Given the description of an element on the screen output the (x, y) to click on. 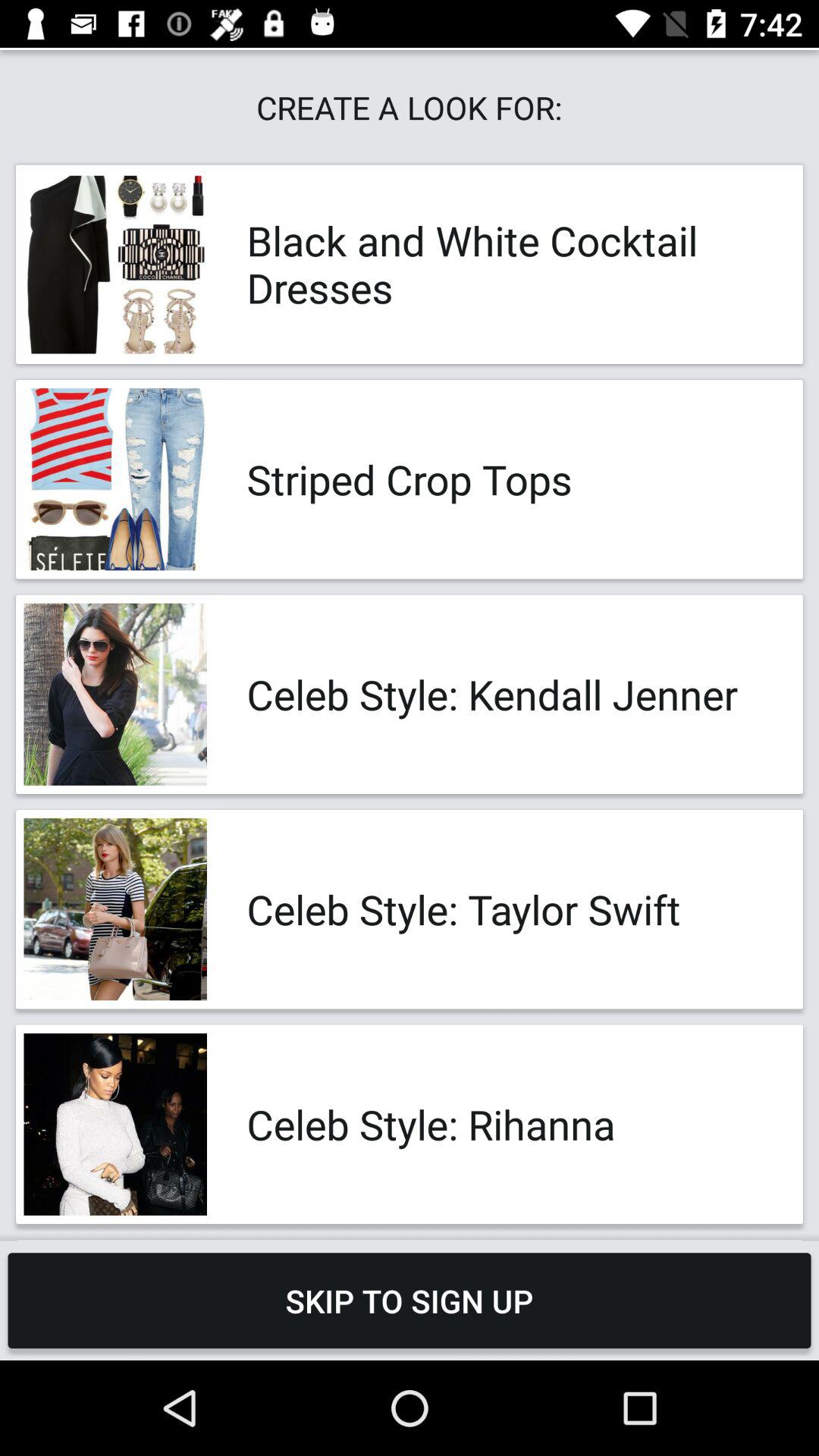
open the app below the create a look app (508, 264)
